Given the description of an element on the screen output the (x, y) to click on. 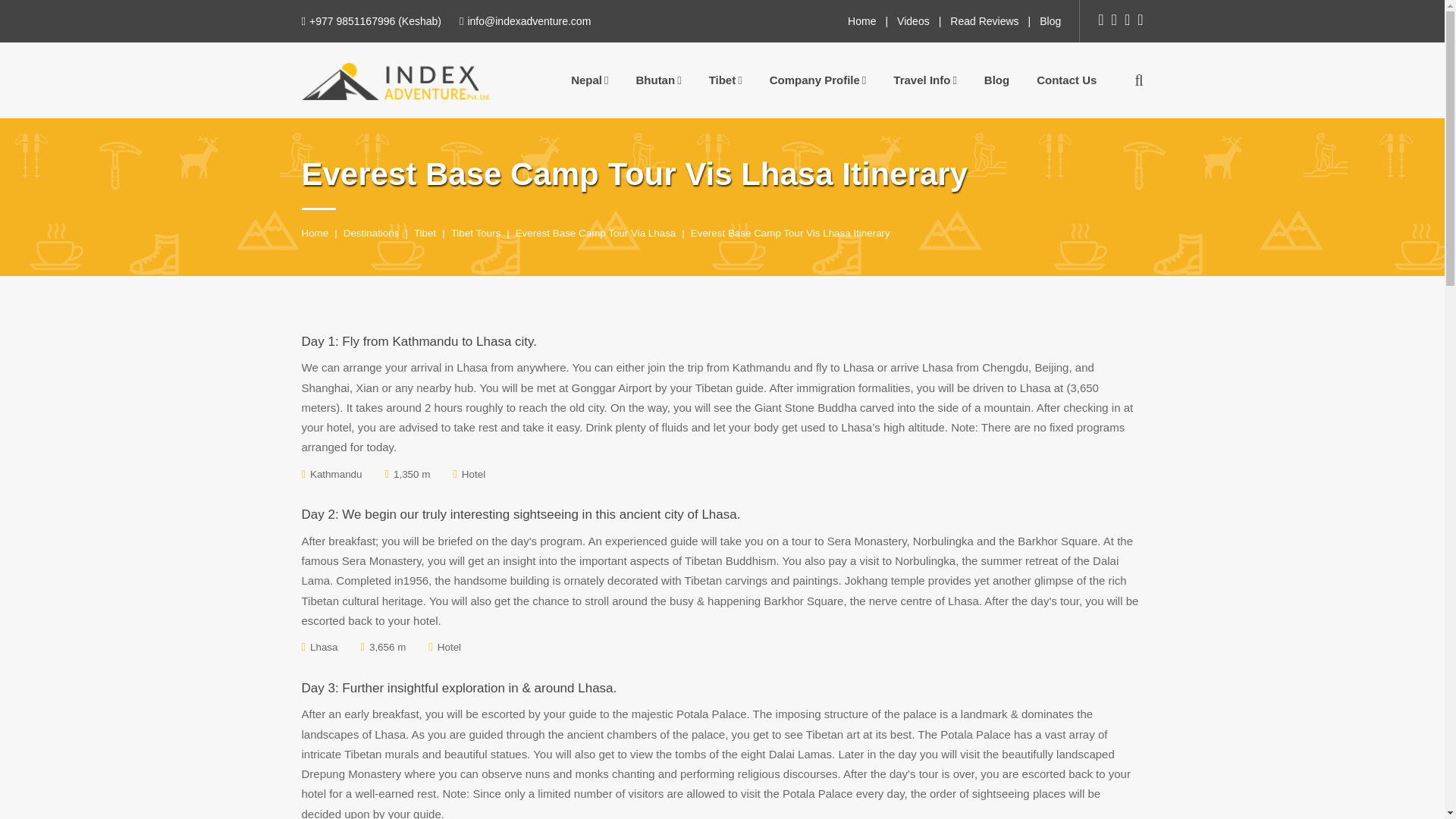
Home (861, 21)
Blog (1050, 21)
Videos (913, 21)
Read Reviews (983, 21)
